Given the description of an element on the screen output the (x, y) to click on. 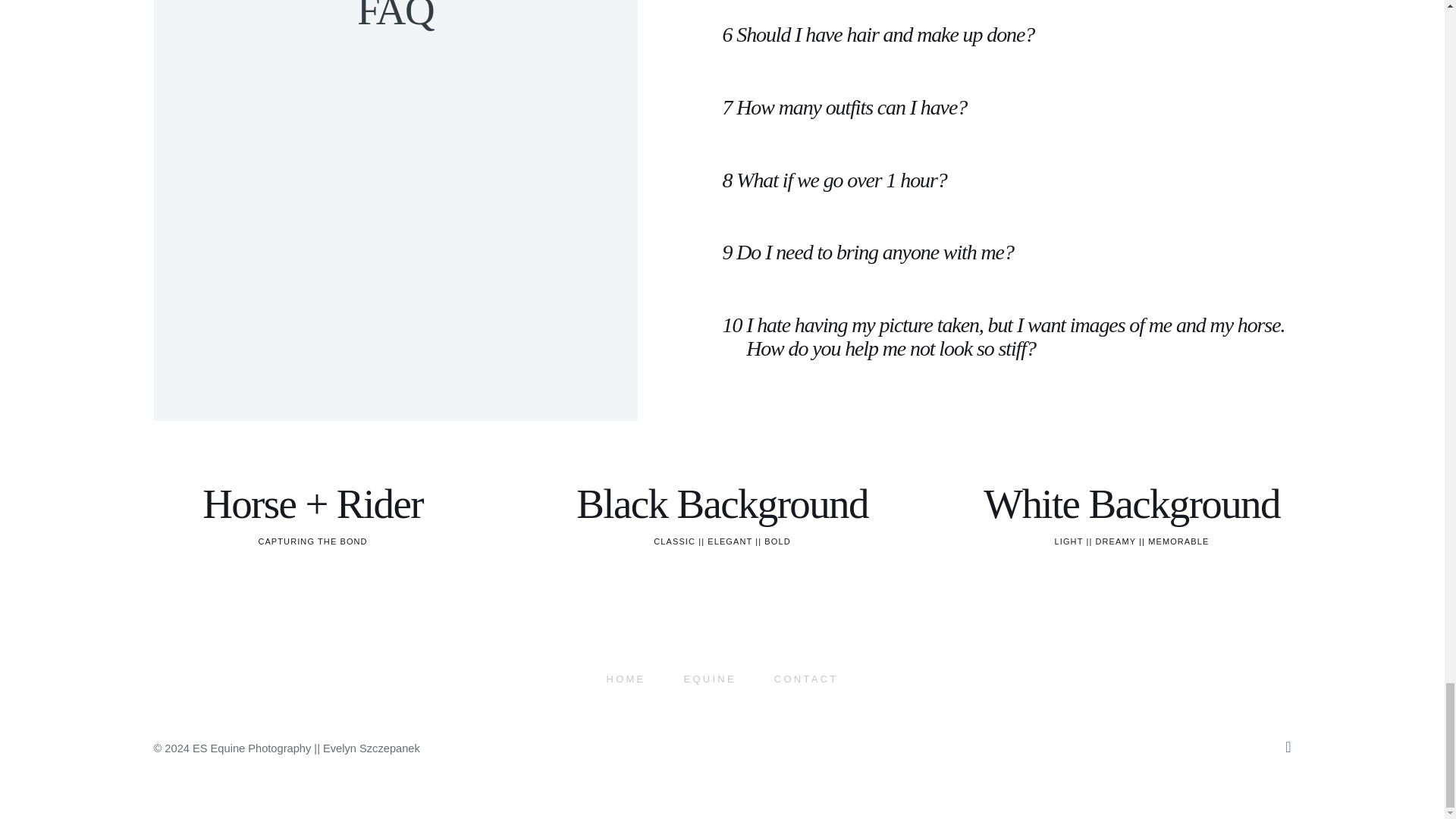
EQUINE (710, 679)
HOME (626, 679)
CONTACT (806, 679)
